Given the description of an element on the screen output the (x, y) to click on. 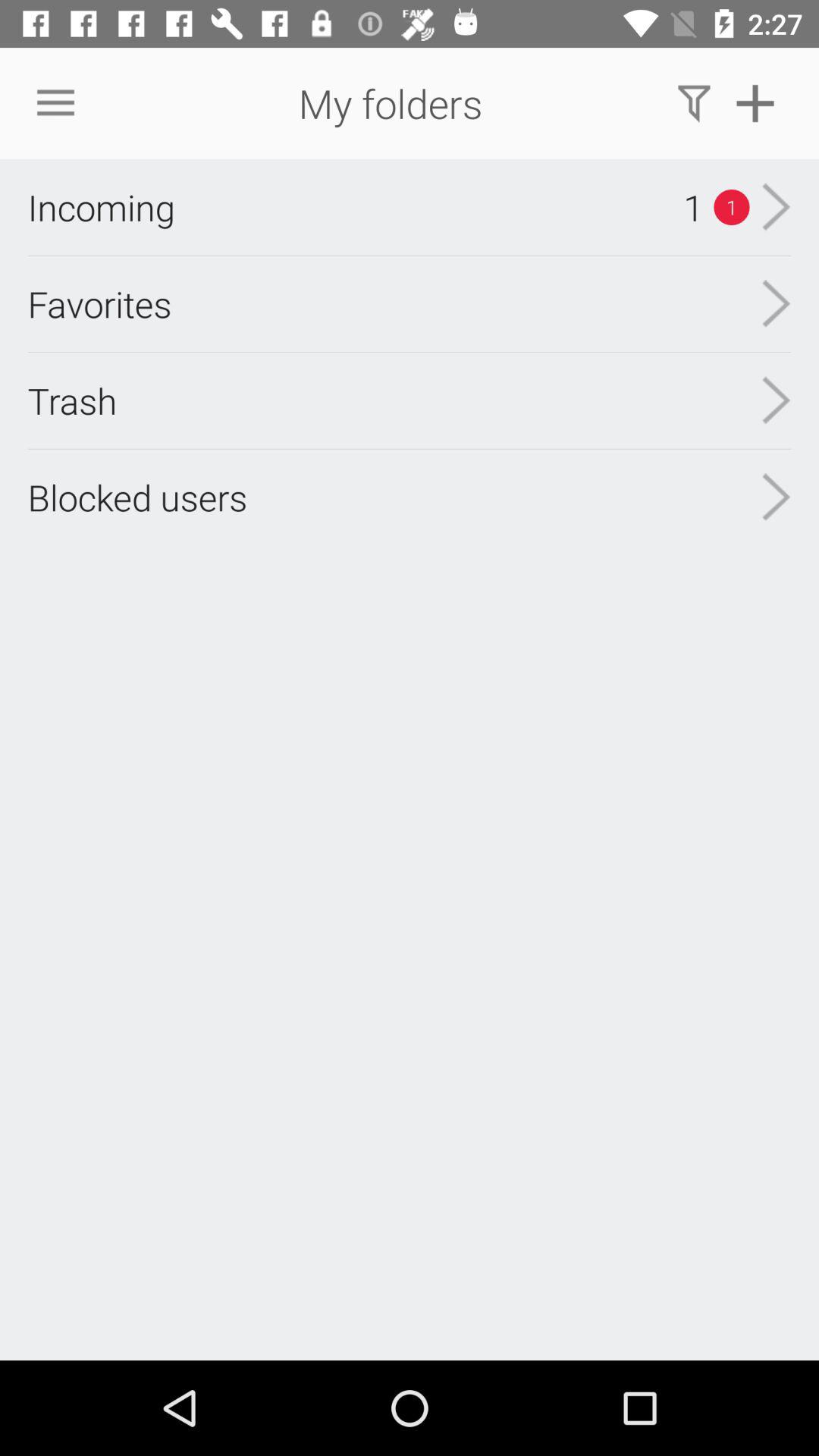
select the item next to blocked users (776, 400)
